Given the description of an element on the screen output the (x, y) to click on. 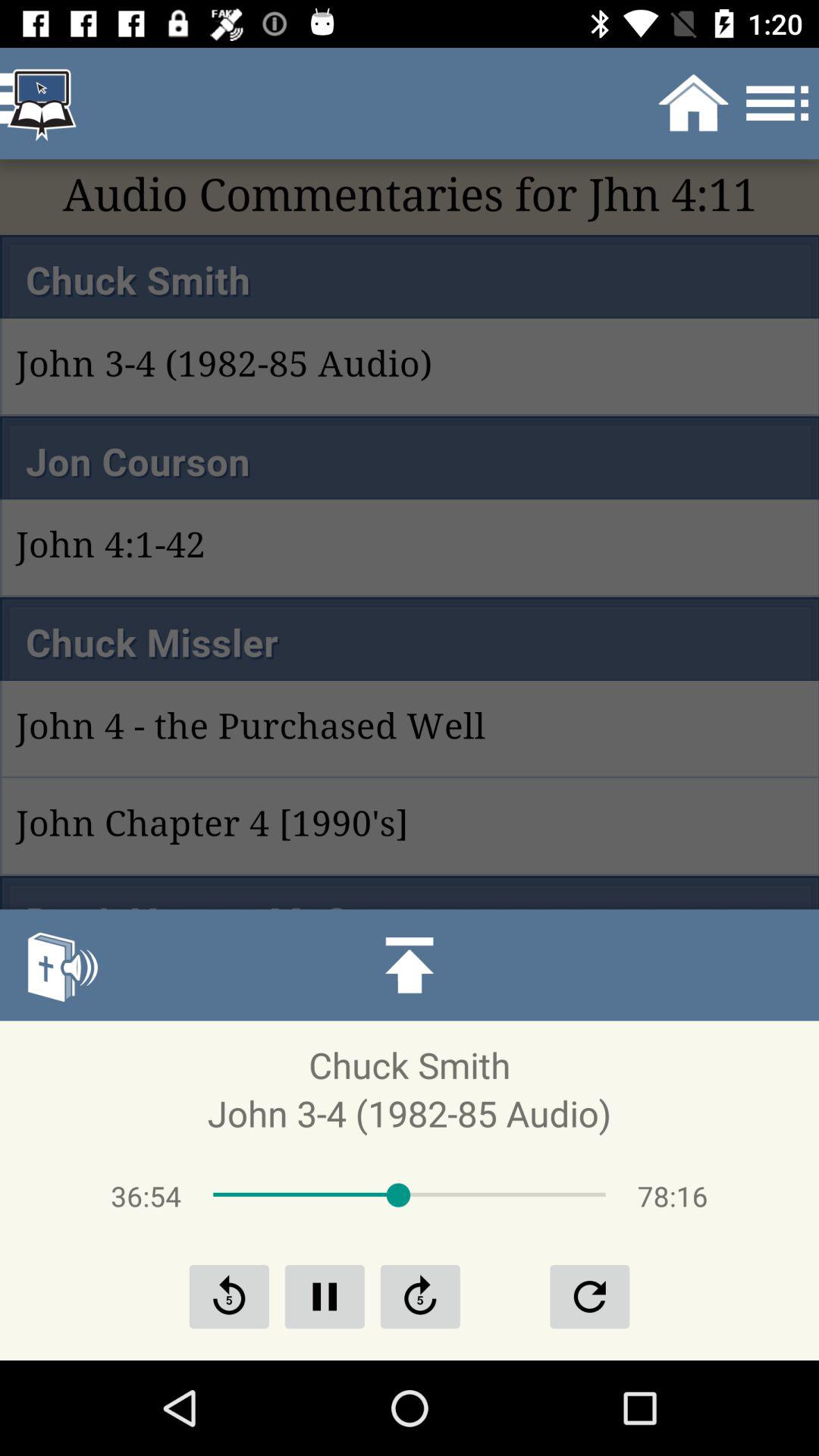
back (228, 1296)
